Given the description of an element on the screen output the (x, y) to click on. 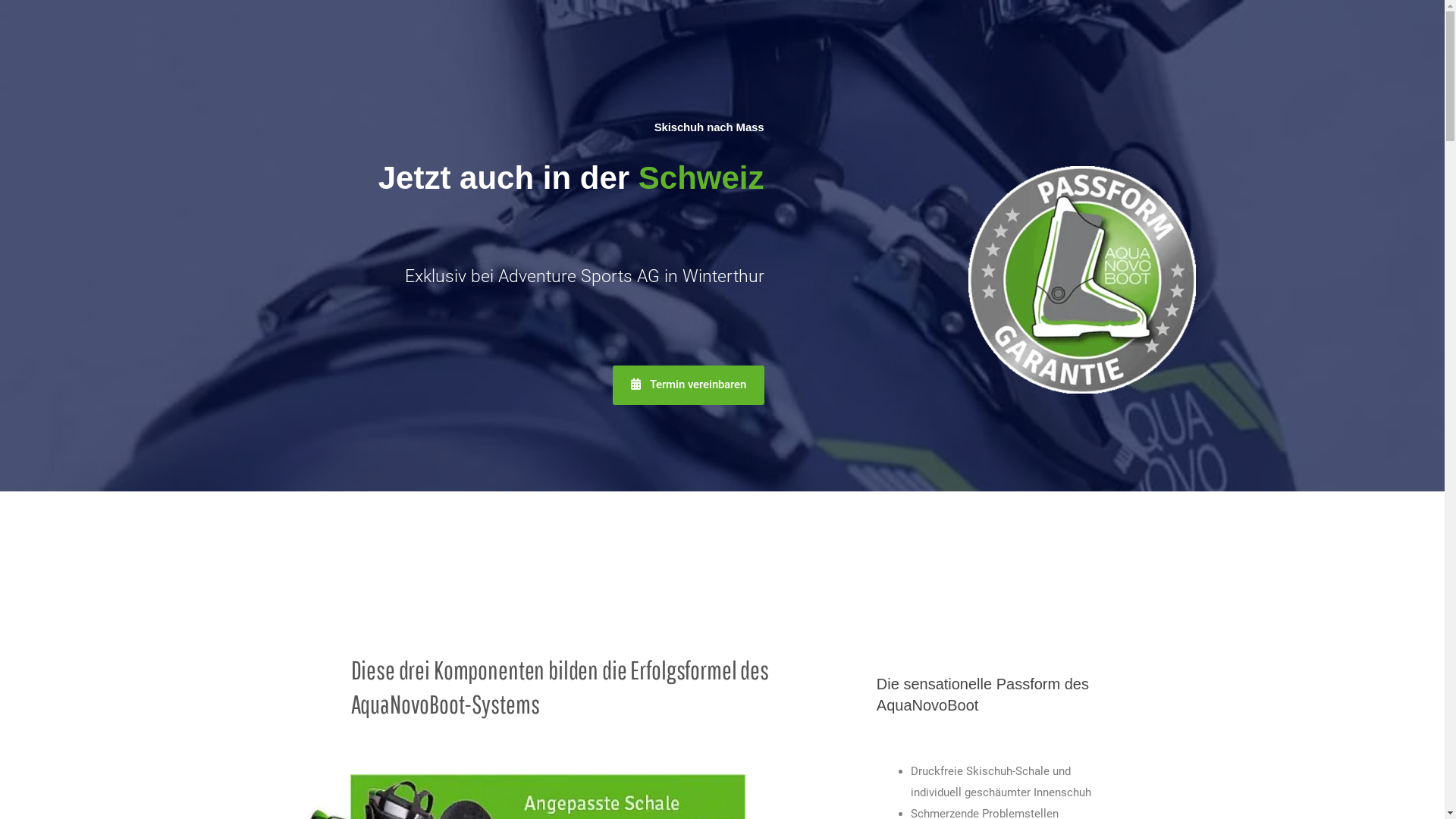
Termin vereinbaren Element type: text (688, 384)
